Given the description of an element on the screen output the (x, y) to click on. 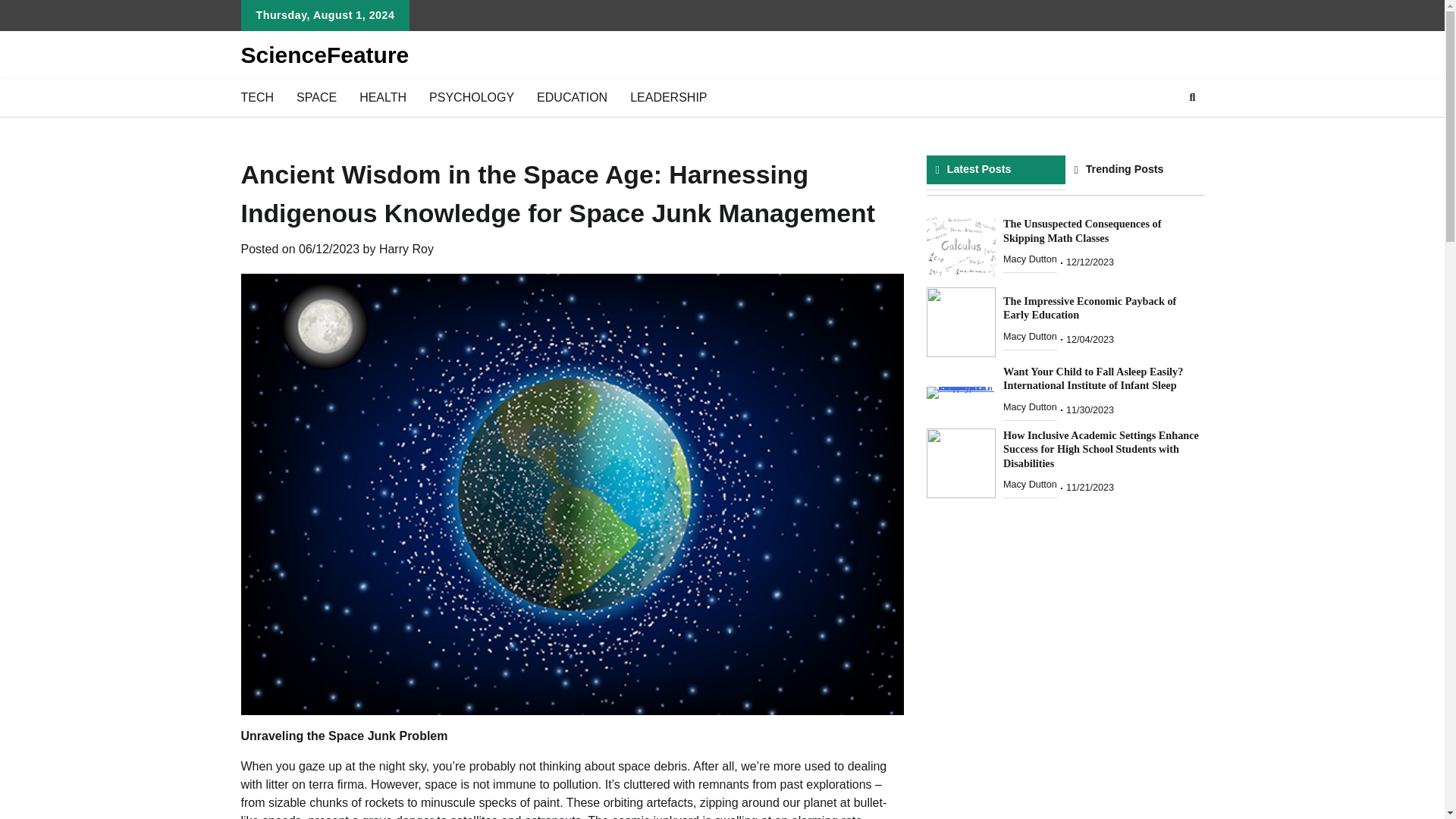
EDUCATION (571, 97)
Search (1192, 97)
Trending Posts (1134, 169)
LEADERSHIP (667, 97)
PSYCHOLOGY (471, 97)
Search (1164, 133)
Latest Posts (995, 169)
The Unsuspected Consequences of Skipping Math Classes (1081, 230)
TECH (256, 97)
SPACE (316, 97)
ScienceFeature (325, 54)
Macy Dutton (1030, 258)
HEALTH (382, 97)
Harry Roy (405, 248)
